Given the description of an element on the screen output the (x, y) to click on. 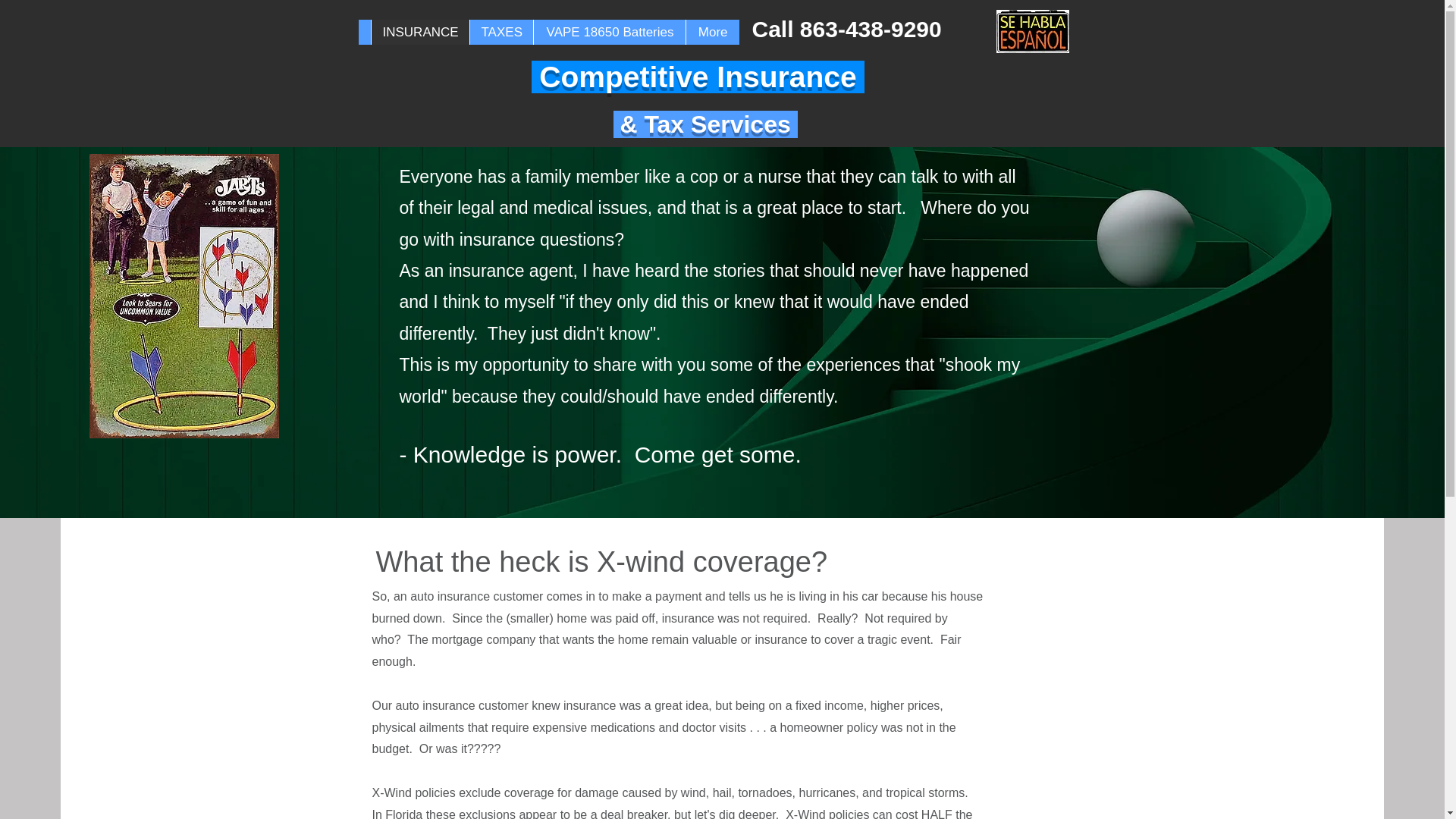
 Competitive Insura (668, 76)
nce  (834, 76)
TAXES (500, 32)
Call 863-438-9290 (847, 28)
sehablaespanol.webp (1031, 31)
VAPE 18650 Batteries (608, 32)
INSURANCE (418, 32)
